Given the description of an element on the screen output the (x, y) to click on. 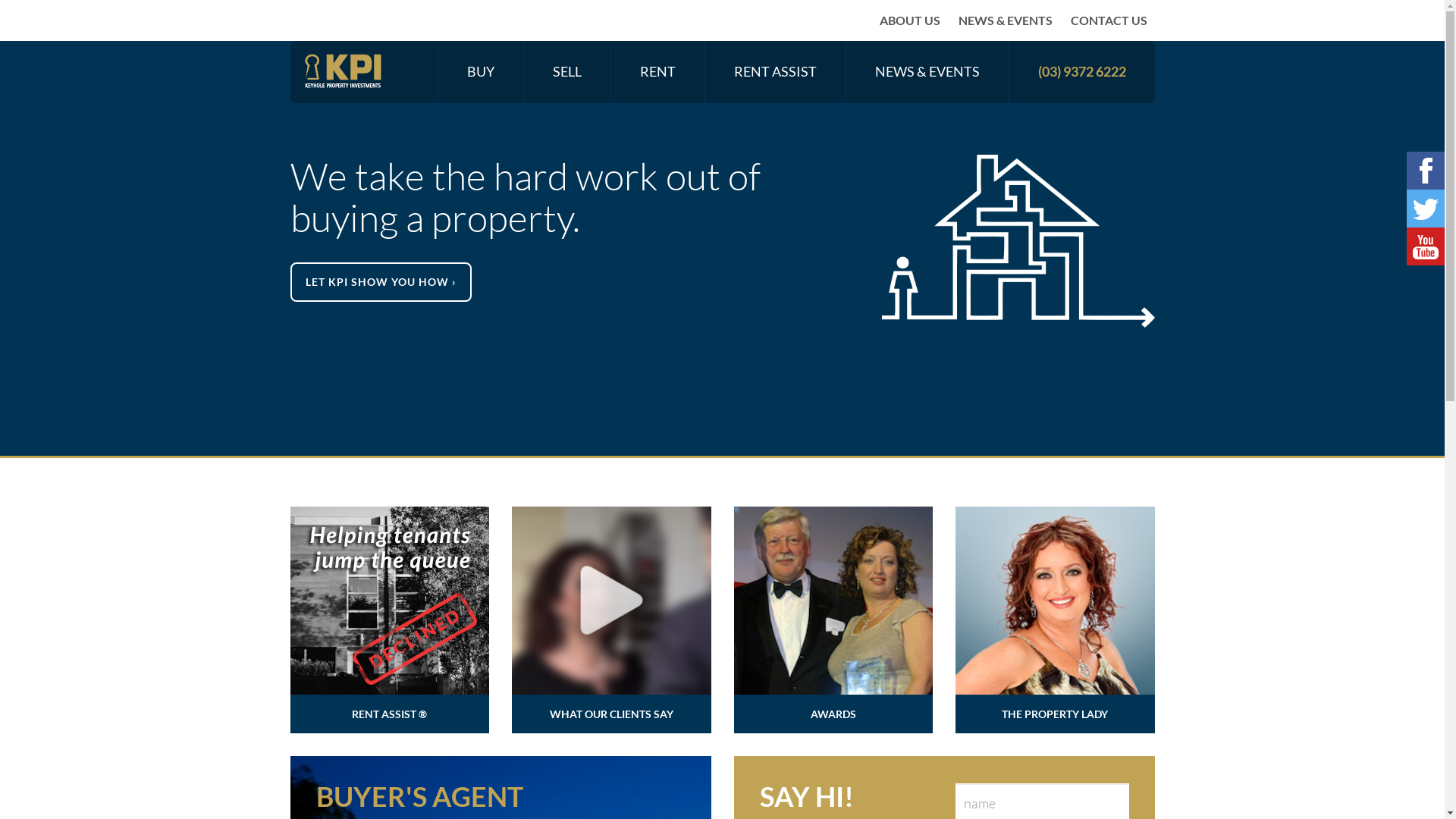
Twitter Element type: text (1425, 208)
NEWS & EVENTS Element type: text (927, 71)
Facebook Element type: text (1425, 170)
BUY Element type: text (480, 71)
RENT ASSIST Element type: text (775, 71)
ABOUT US Element type: text (909, 20)
WHAT OUR CLIENTS SAY Element type: text (611, 620)
(03) 9372 6222 Element type: text (1081, 71)
CONTACT US Element type: text (1108, 20)
NEWS & EVENTS Element type: text (1005, 20)
Youtube Element type: text (1425, 246)
RENT Element type: text (657, 71)
KPI KEYHOLE PROPERTY INVESTMENTS Element type: text (341, 71)
SELL Element type: text (566, 71)
AWARDS Element type: text (833, 620)
THE PROPERTY LADY Element type: text (1054, 620)
